Given the description of an element on the screen output the (x, y) to click on. 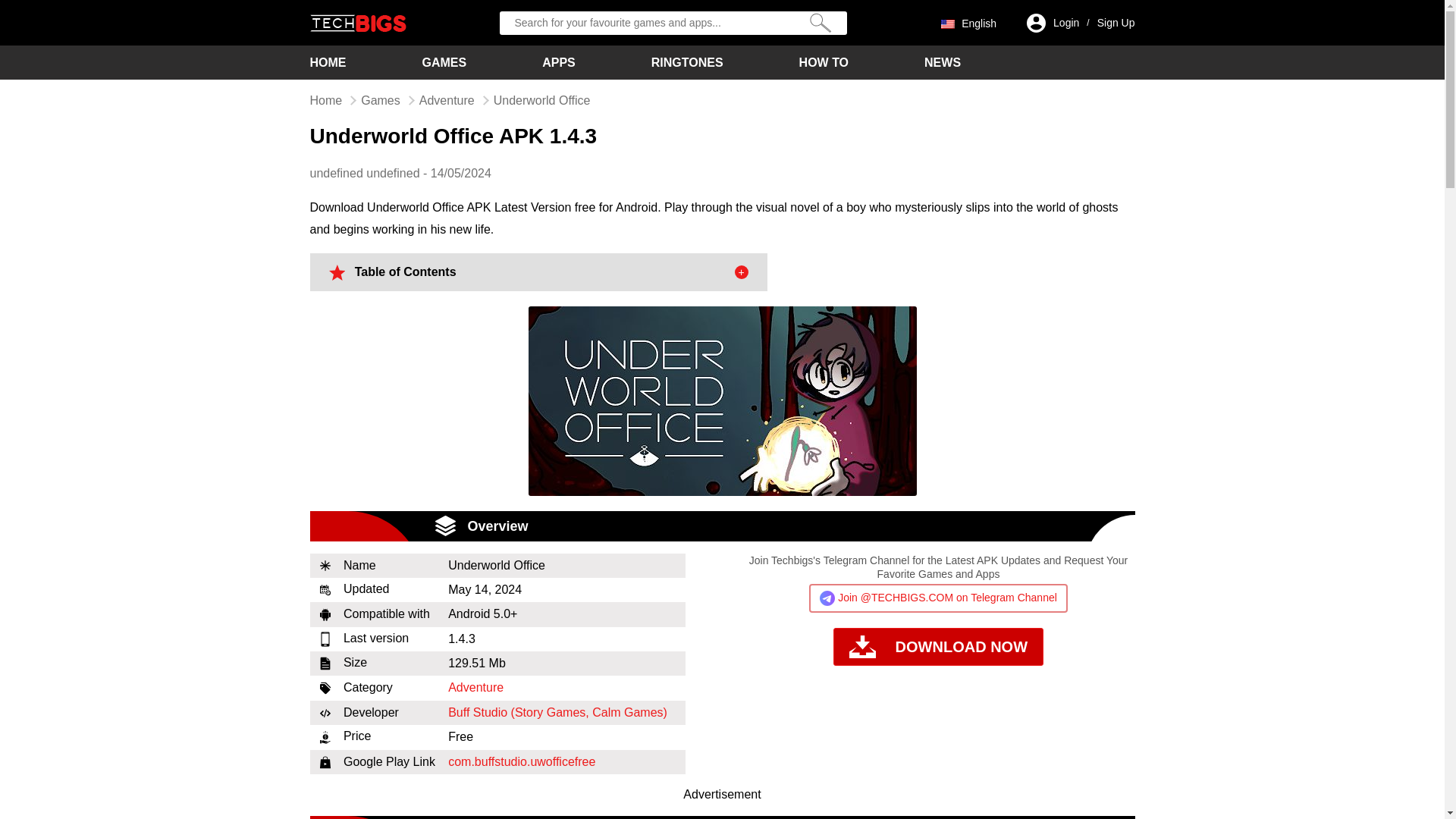
Home (327, 62)
Login (1065, 23)
APPS (558, 62)
Games (443, 62)
HOME (327, 62)
Games (380, 100)
Adventure (446, 100)
How To (823, 62)
DOWNLOAD NOW (937, 647)
RINGTONES (686, 62)
Sign Up (1116, 23)
GAMES (443, 62)
HOW TO (823, 62)
Home (325, 100)
Adventure (475, 686)
